Given the description of an element on the screen output the (x, y) to click on. 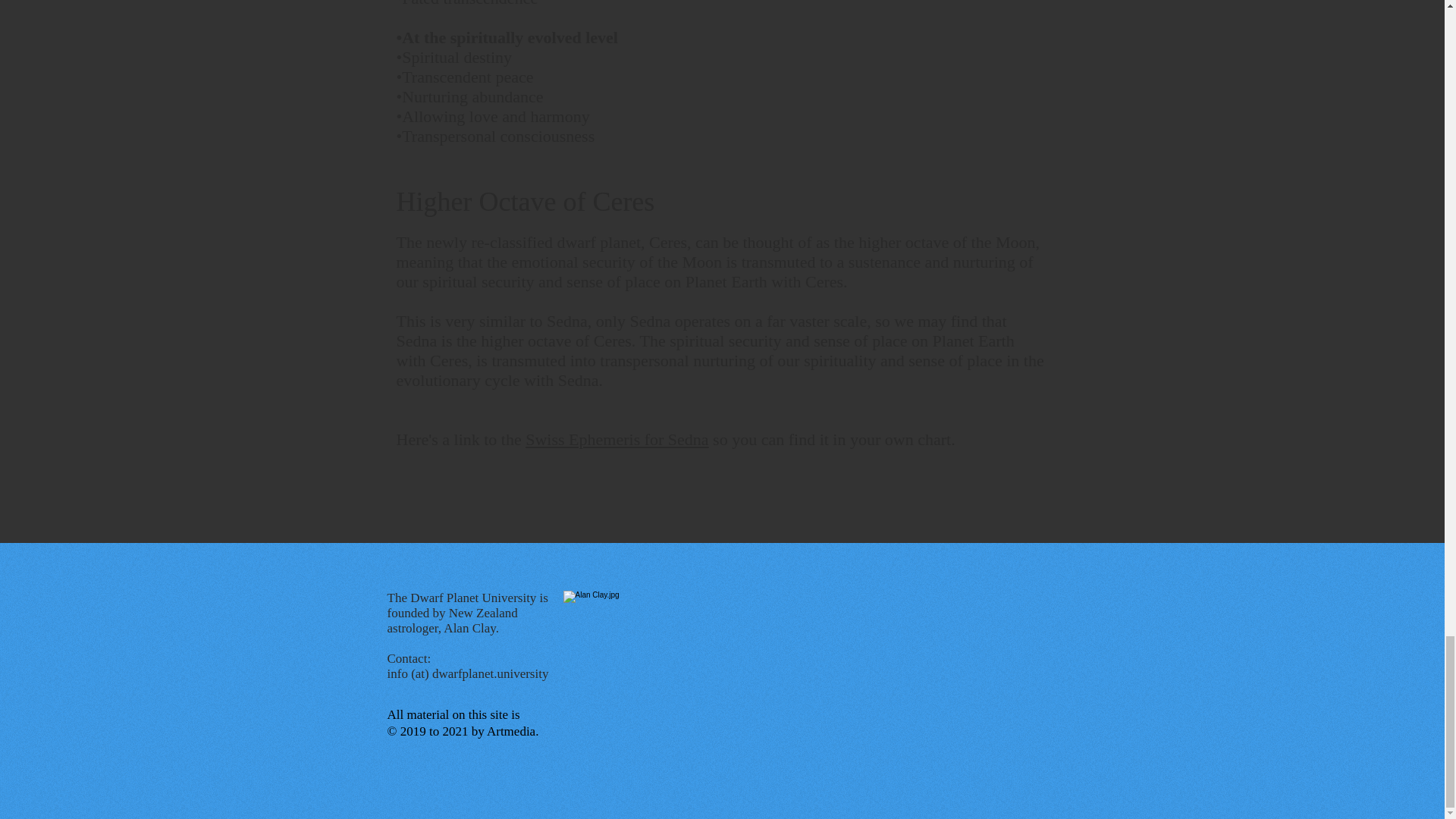
Swiss Ephemeris for Sedna (616, 438)
Embedded Content (931, 680)
